Given the description of an element on the screen output the (x, y) to click on. 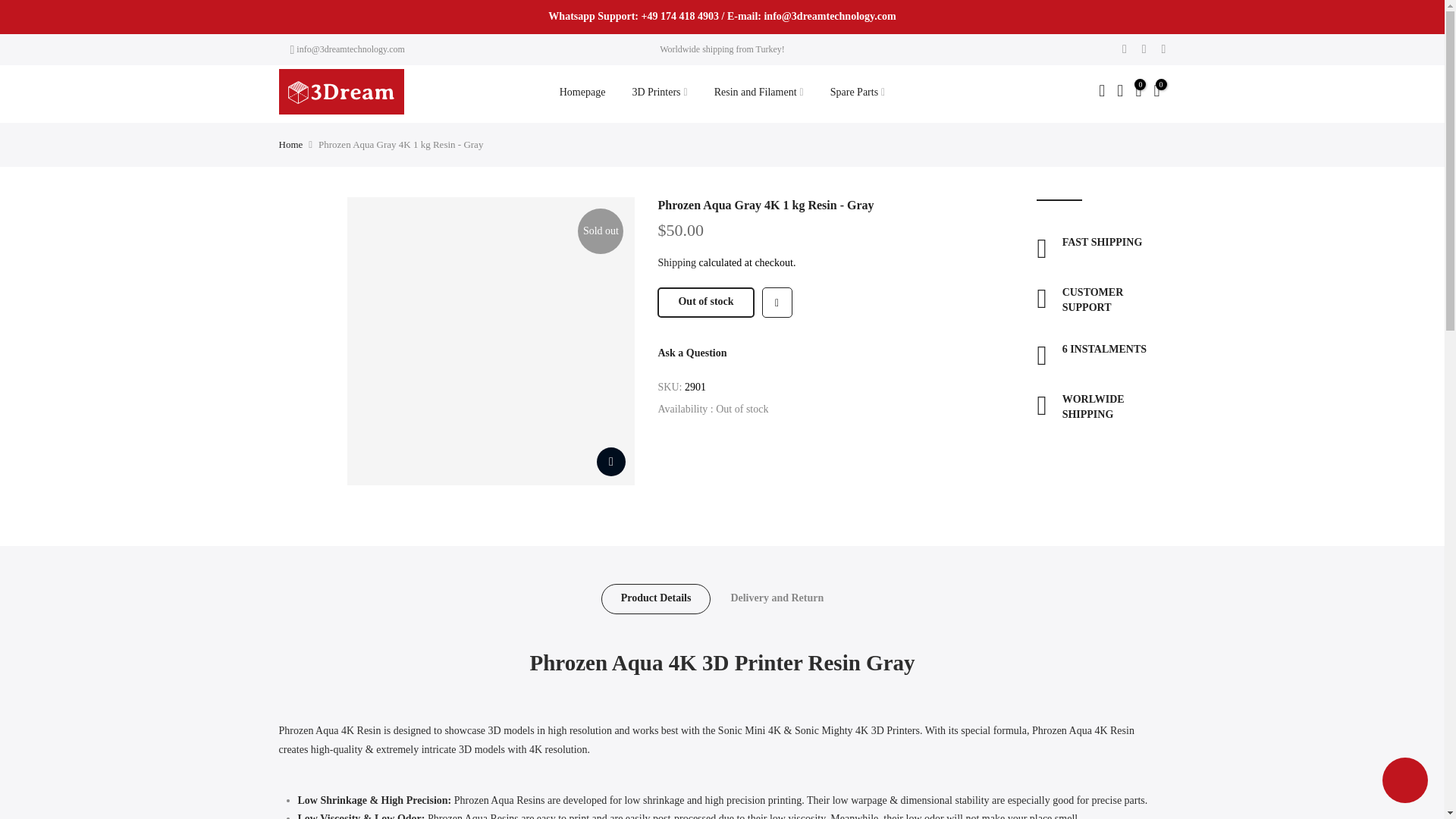
Delivery and Return (776, 598)
Shopify online store chat (1404, 781)
Ask a Question (692, 352)
Shipping (676, 262)
Home (290, 144)
Resin and Filament (758, 92)
Homepage (582, 92)
Product Details (656, 598)
3D Printers (659, 92)
Out of stock (706, 302)
